Given the description of an element on the screen output the (x, y) to click on. 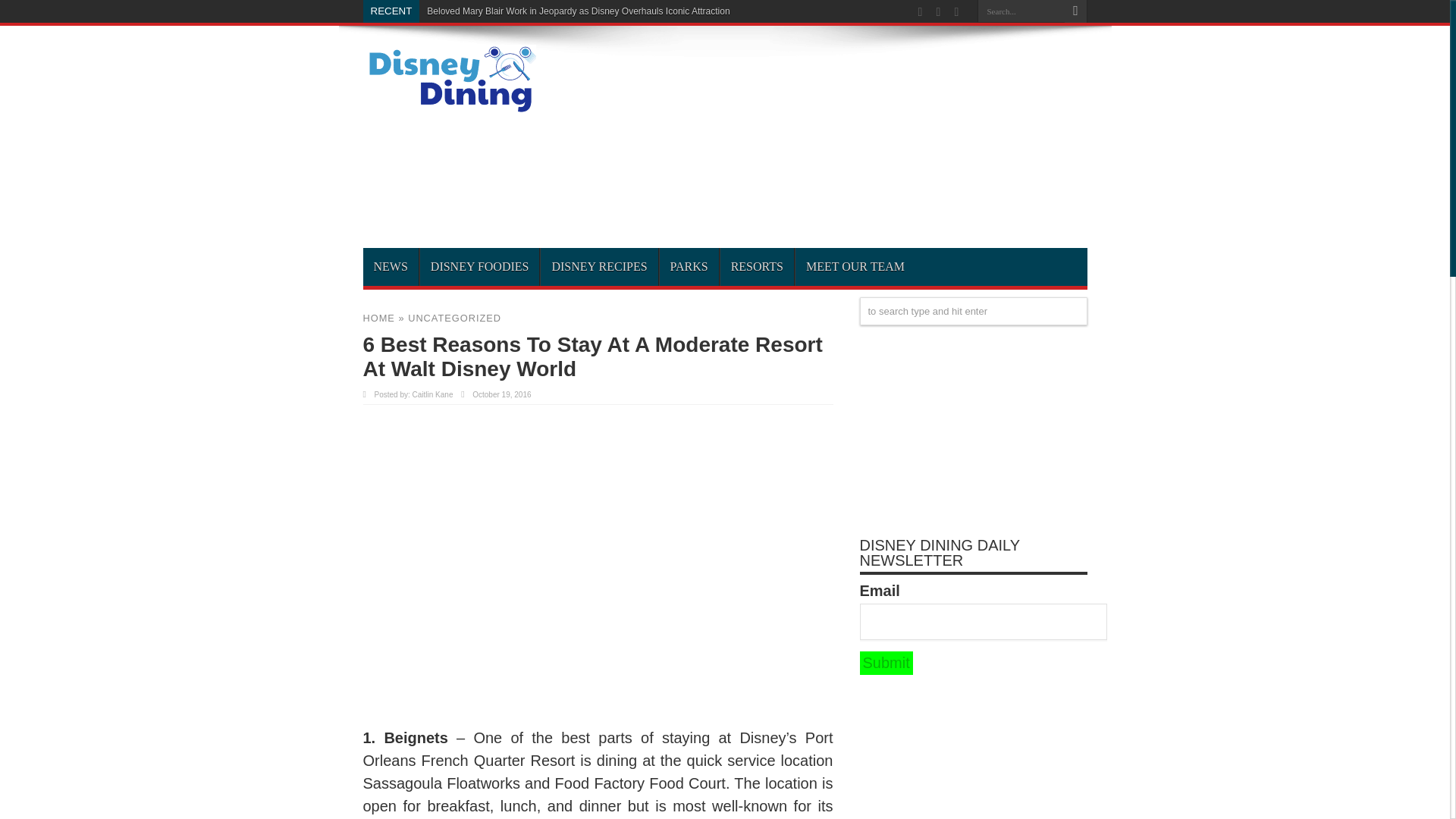
MEET OUR TEAM (854, 266)
PARKS (689, 266)
Search... (1020, 11)
NEWS (389, 266)
UNCATEGORIZED (453, 317)
to search type and hit enter (973, 311)
Submit (886, 662)
Caitlin Kane (432, 394)
DISNEY FOODIES (479, 266)
